Given the description of an element on the screen output the (x, y) to click on. 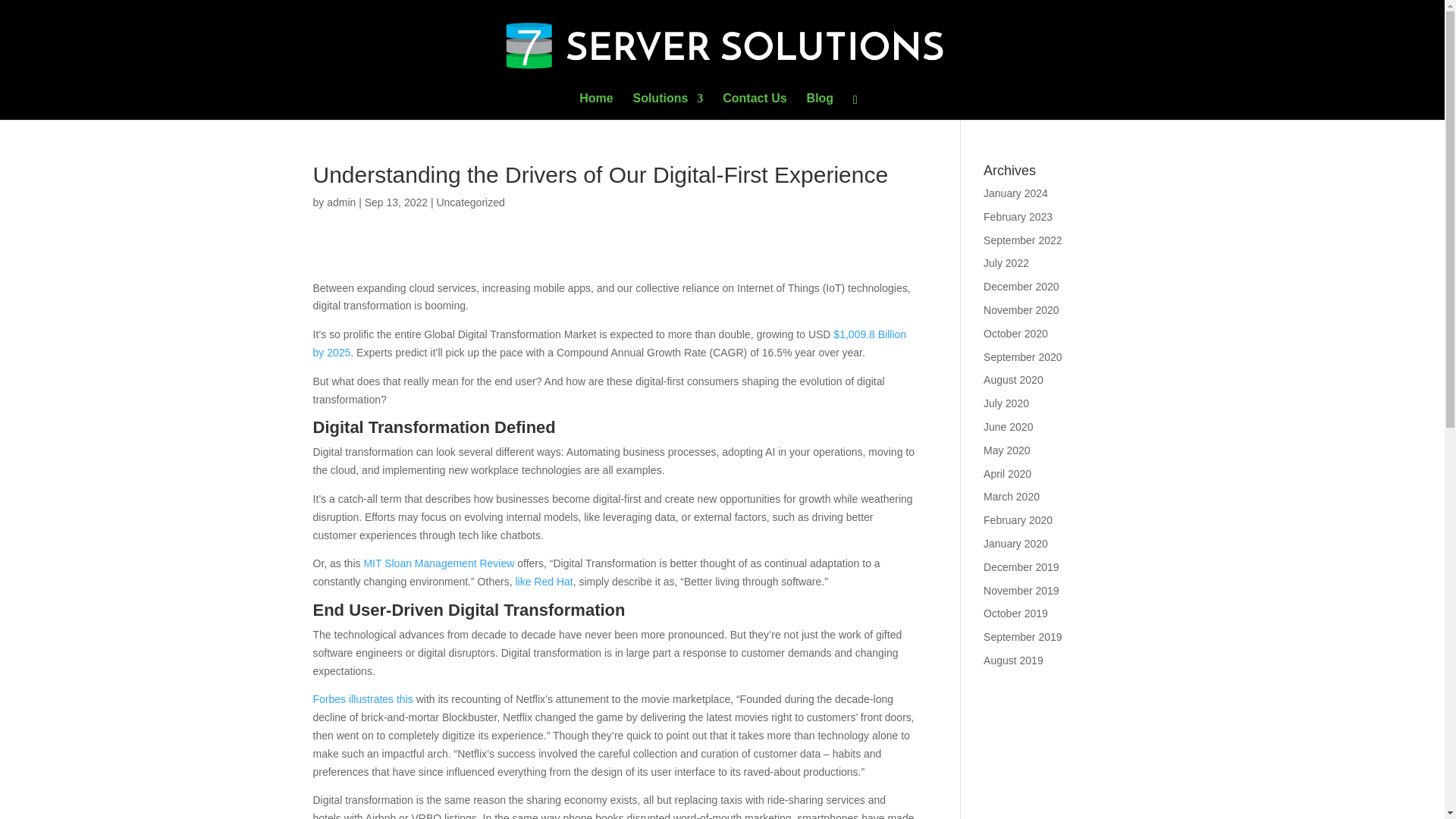
admin (340, 202)
Home (595, 106)
like Red Hat (543, 581)
Blog (820, 106)
Posts by admin (340, 202)
Uncategorized (469, 202)
Contact Us (754, 106)
Solutions (667, 106)
MIT Sloan Management Review (437, 563)
